Given the description of an element on the screen output the (x, y) to click on. 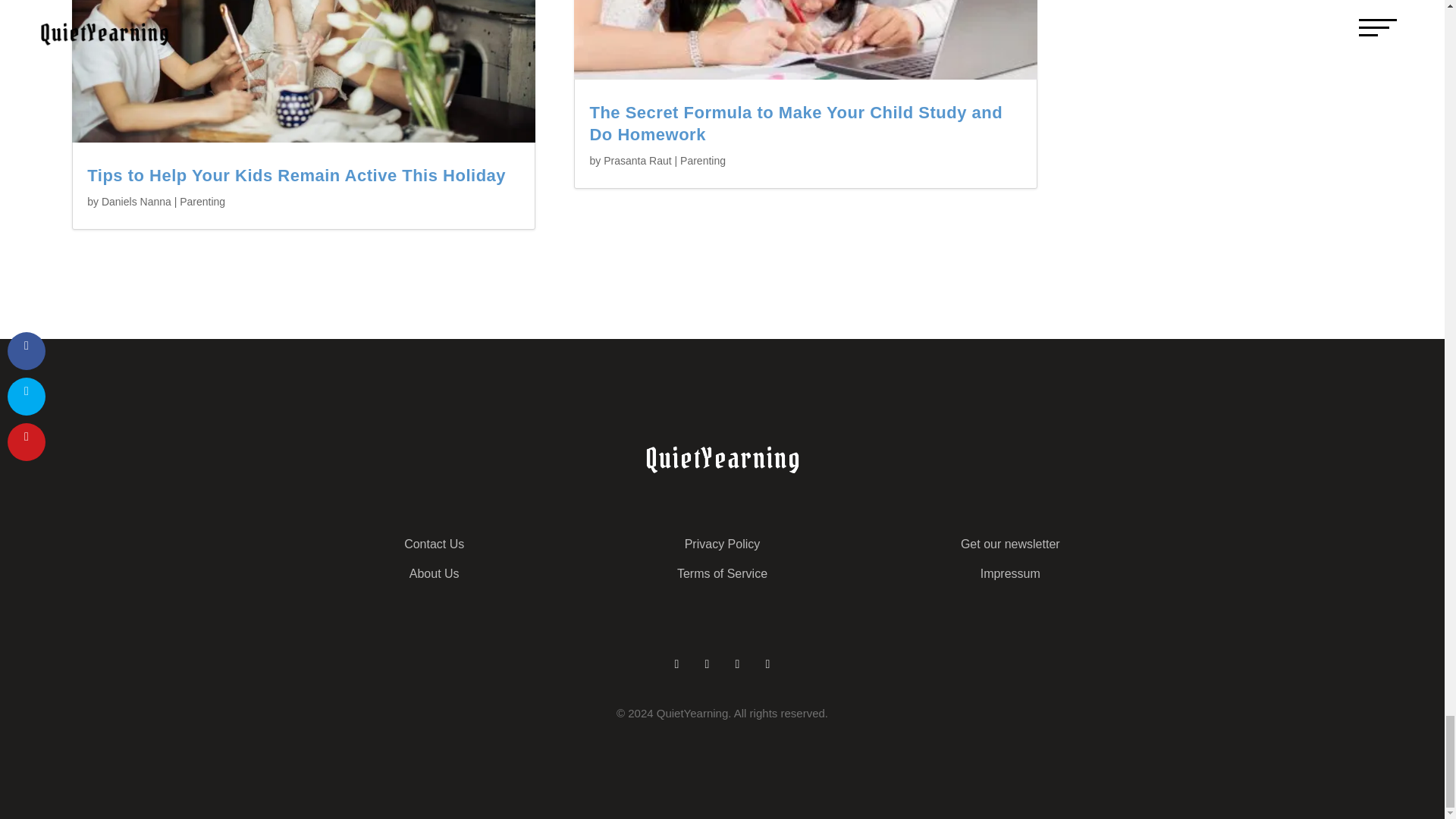
Daniels Nanna (136, 201)
Parenting (202, 201)
Tips to Help Your Kids Remain Active This Holiday (296, 175)
Posts by Prasanta Raut (637, 160)
Posts by Daniels Nanna (136, 201)
